Given the description of an element on the screen output the (x, y) to click on. 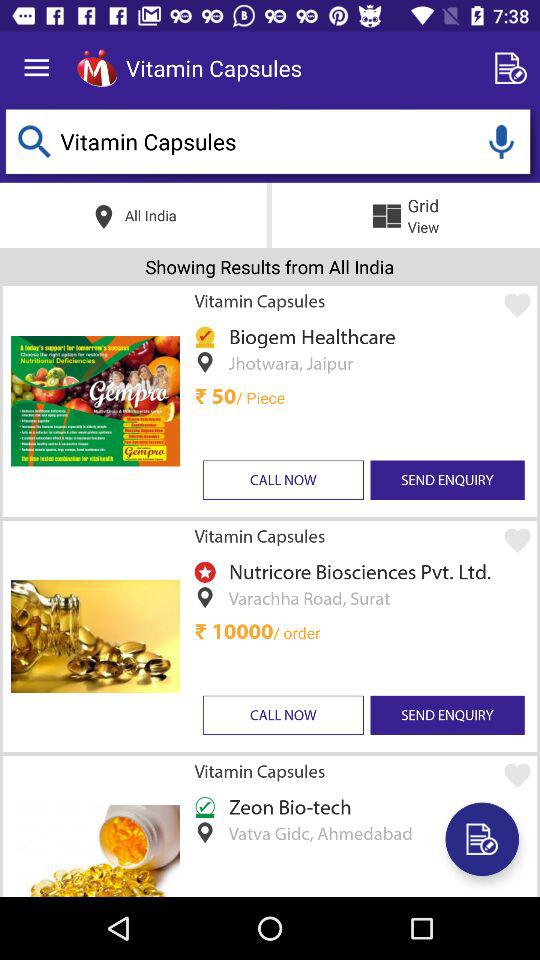
voice to text button (501, 141)
